Given the description of an element on the screen output the (x, y) to click on. 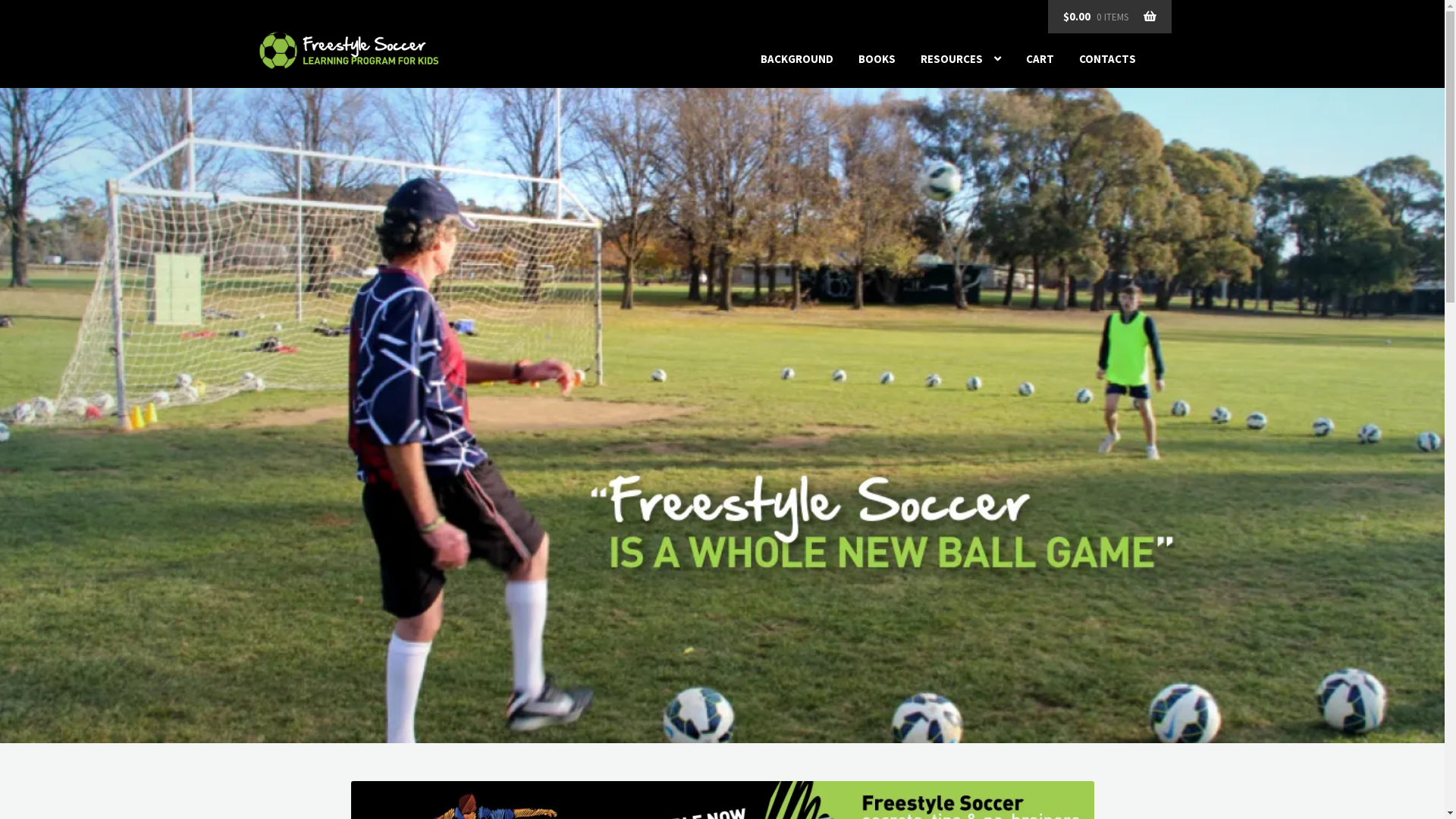
BOOKS Element type: text (876, 59)
BACKGROUND Element type: text (796, 59)
CONTACTS Element type: text (1107, 59)
CART Element type: text (1039, 59)
RESOURCES Element type: text (960, 59)
$0.00 0 ITEMS Element type: text (1109, 16)
Skip to navigation Element type: text (258, 31)
